Given the description of an element on the screen output the (x, y) to click on. 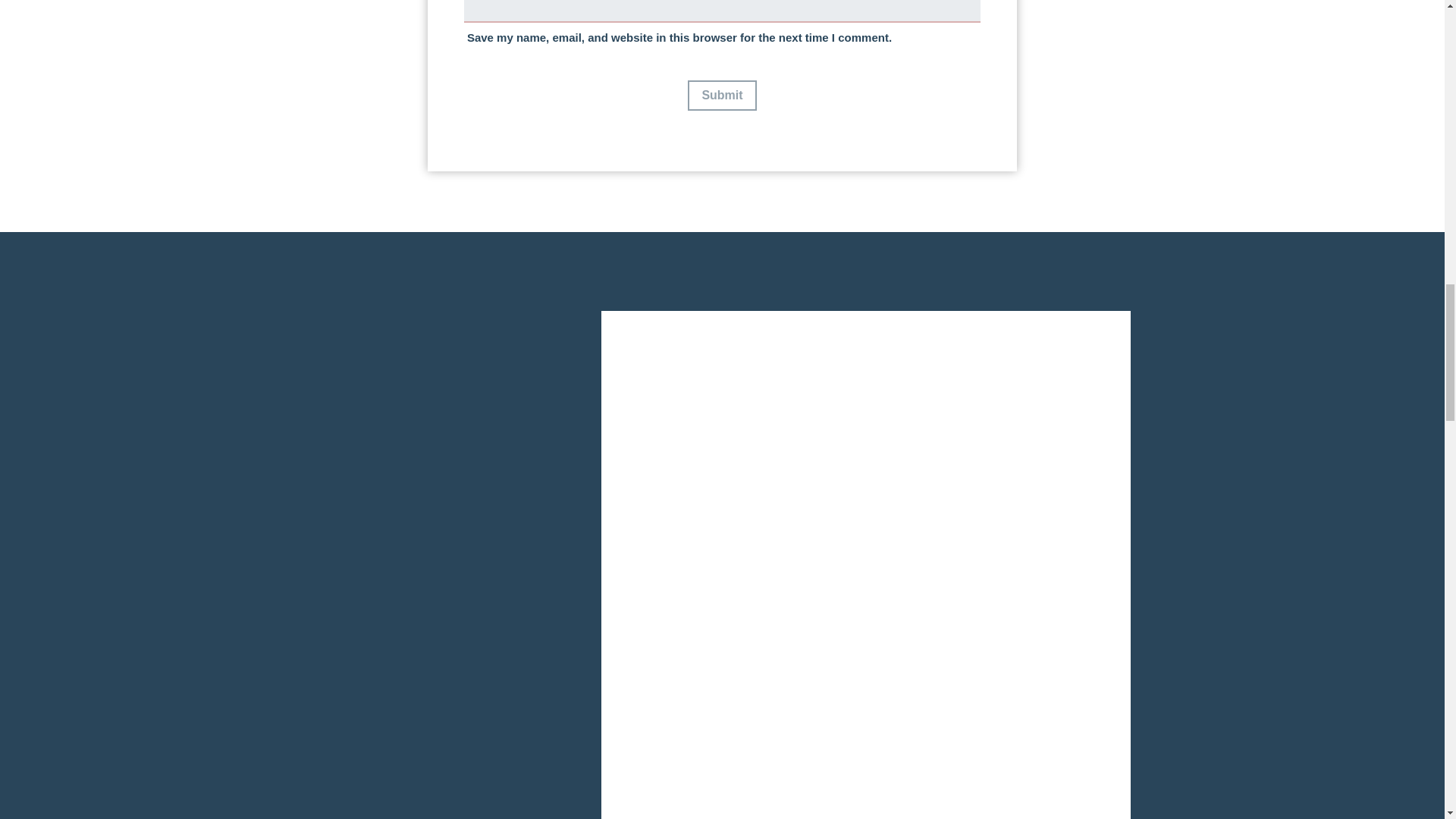
Submit (721, 95)
